Given the description of an element on the screen output the (x, y) to click on. 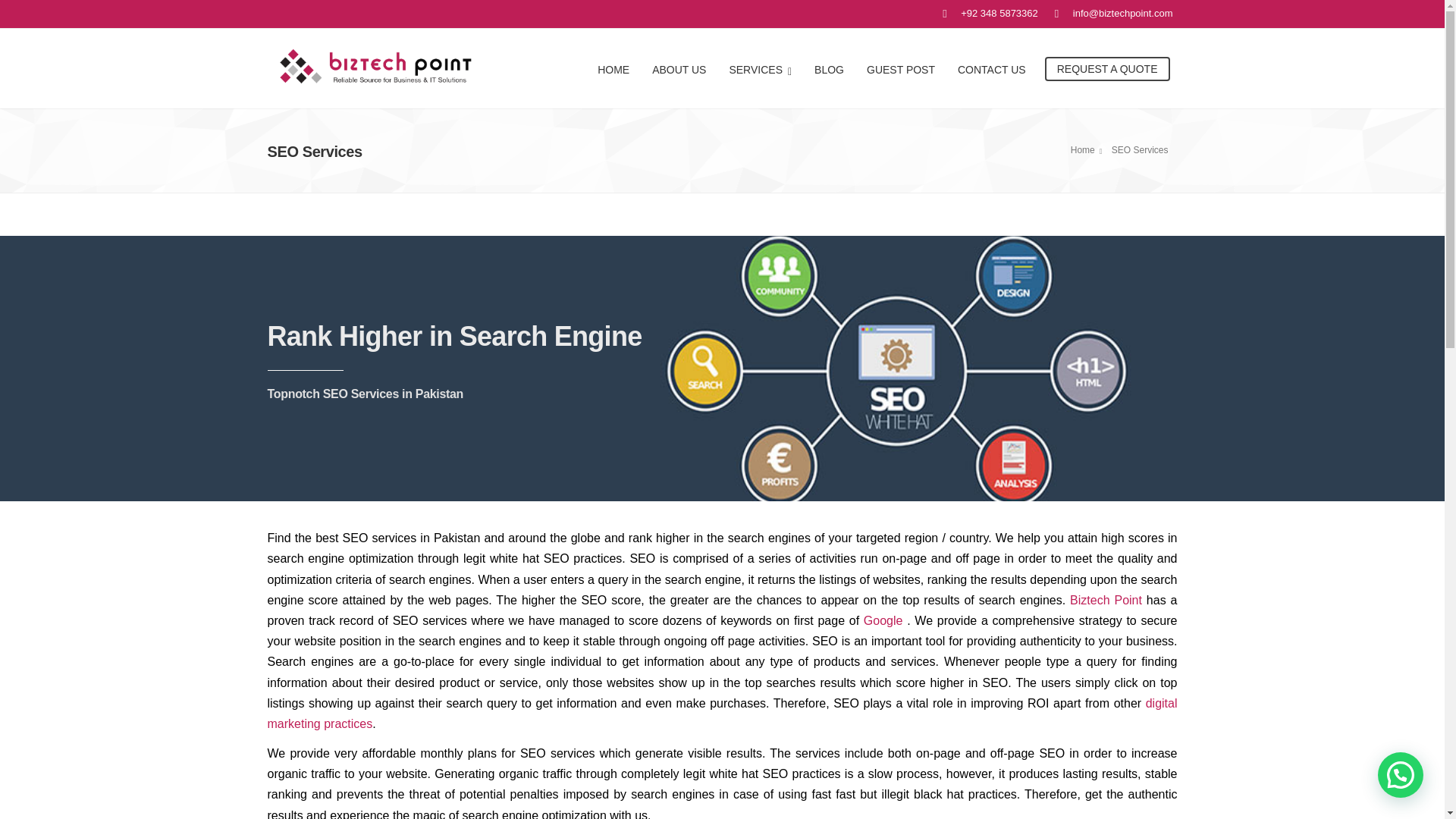
Biztech Point (1103, 599)
ABOUT US (678, 68)
REQUEST A QUOTE (1107, 68)
GUEST POST (901, 68)
Home (1088, 150)
SEO Services (1142, 150)
SEO Services (1142, 150)
SERVICES (760, 68)
CONTACT US (991, 68)
